Given the description of an element on the screen output the (x, y) to click on. 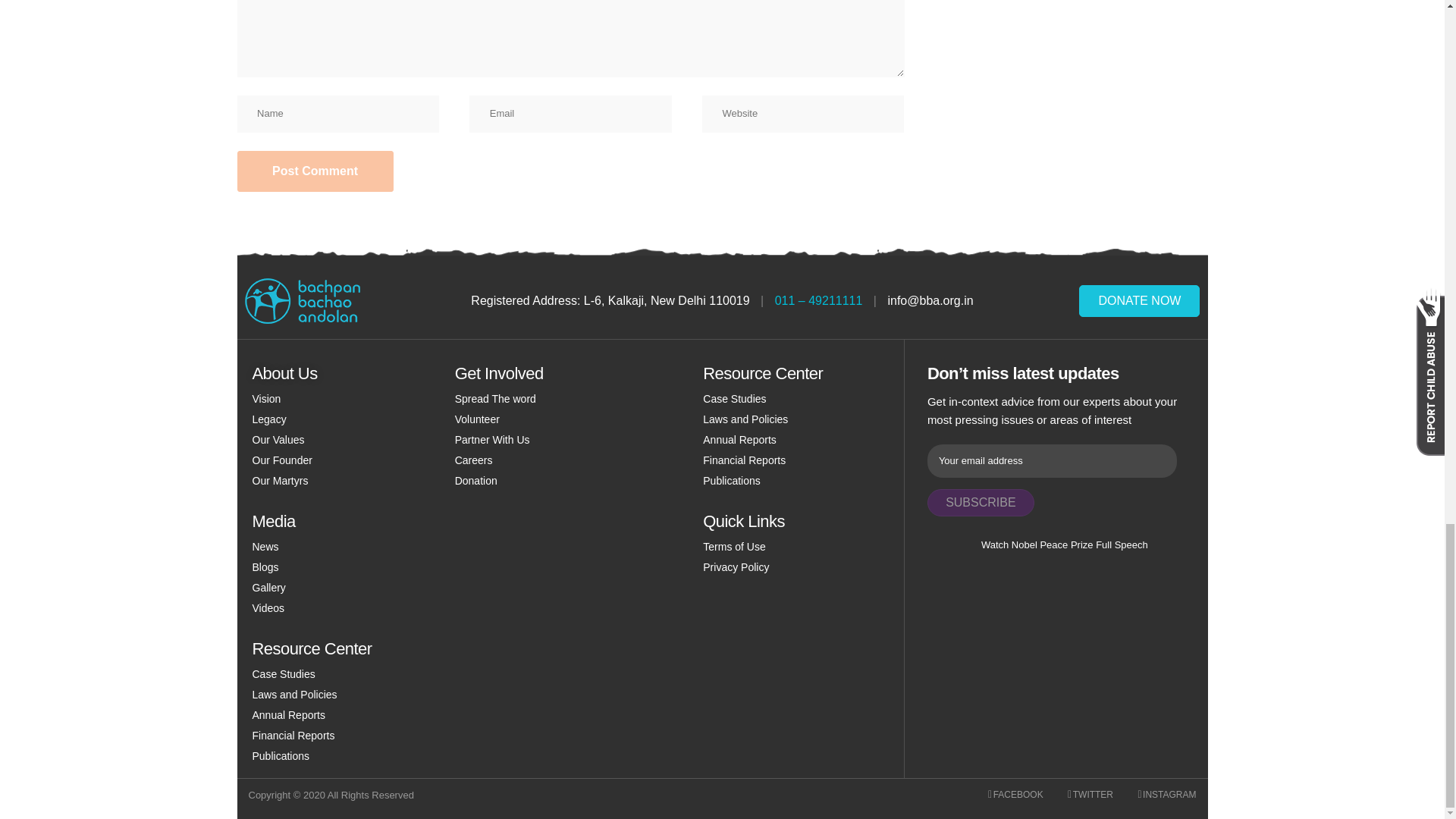
Post Comment (314, 170)
